Given the description of an element on the screen output the (x, y) to click on. 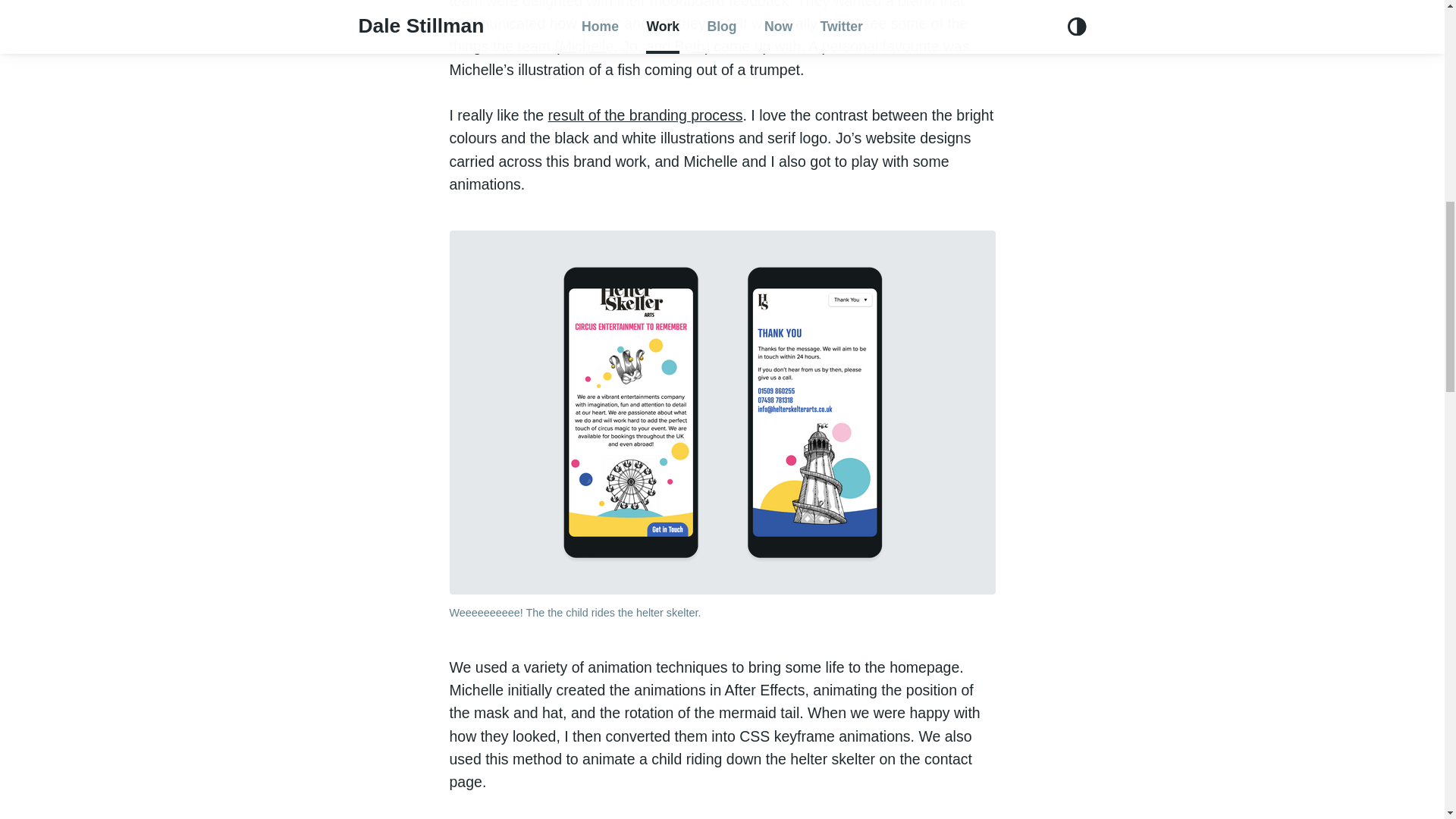
Michelle Barnett (586, 45)
Michelle (586, 45)
Helter Skelter branding on a dozen eggs website (645, 115)
result of the branding process (645, 115)
Jo (629, 45)
Jo Wdowiak (629, 45)
Beth Evans (689, 45)
Beth (689, 45)
